Given the description of an element on the screen output the (x, y) to click on. 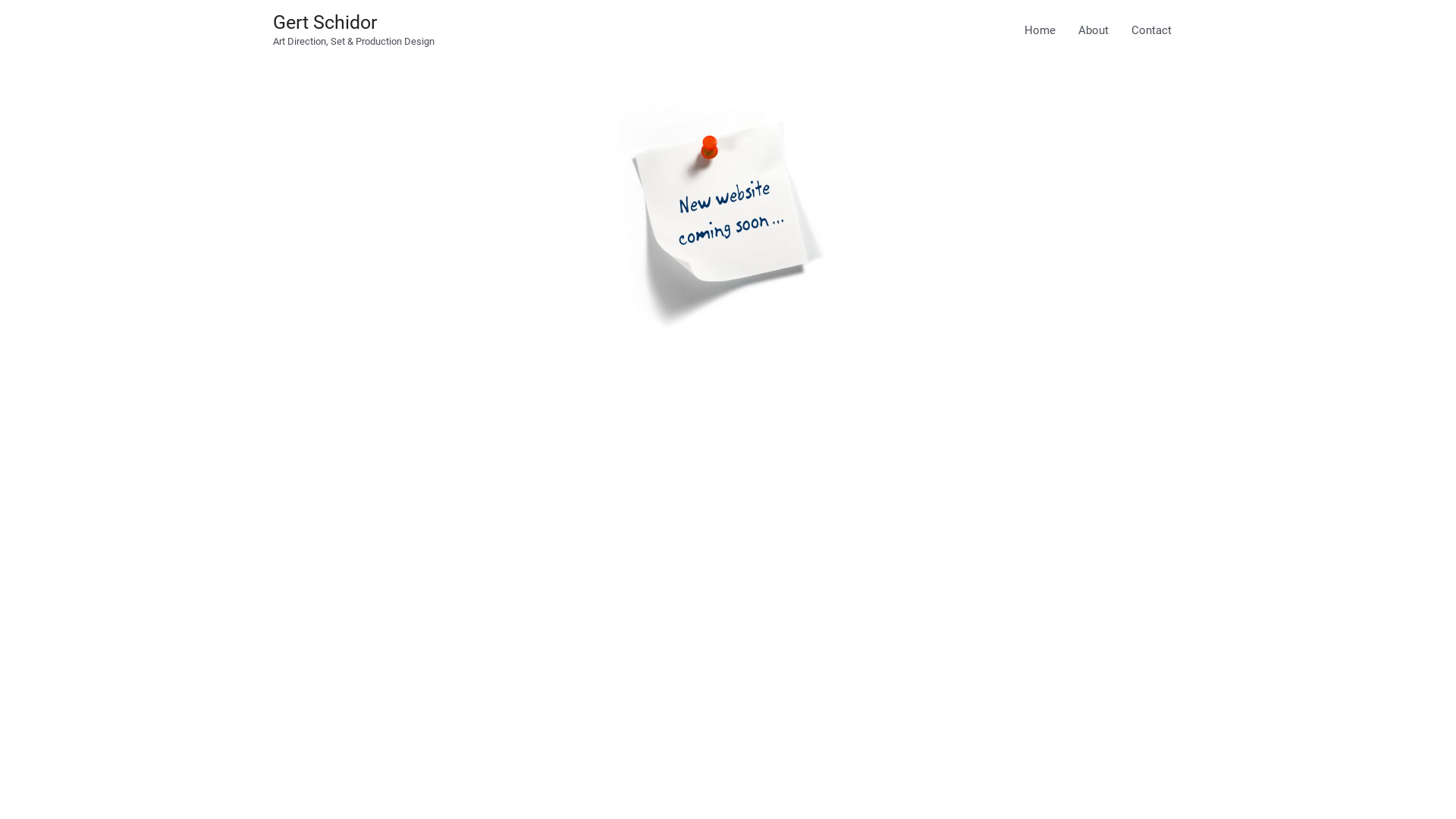
Contact Element type: text (1151, 30)
Home Element type: text (1039, 30)
About Element type: text (1093, 30)
Gert Schidor Element type: text (324, 22)
